Given the description of an element on the screen output the (x, y) to click on. 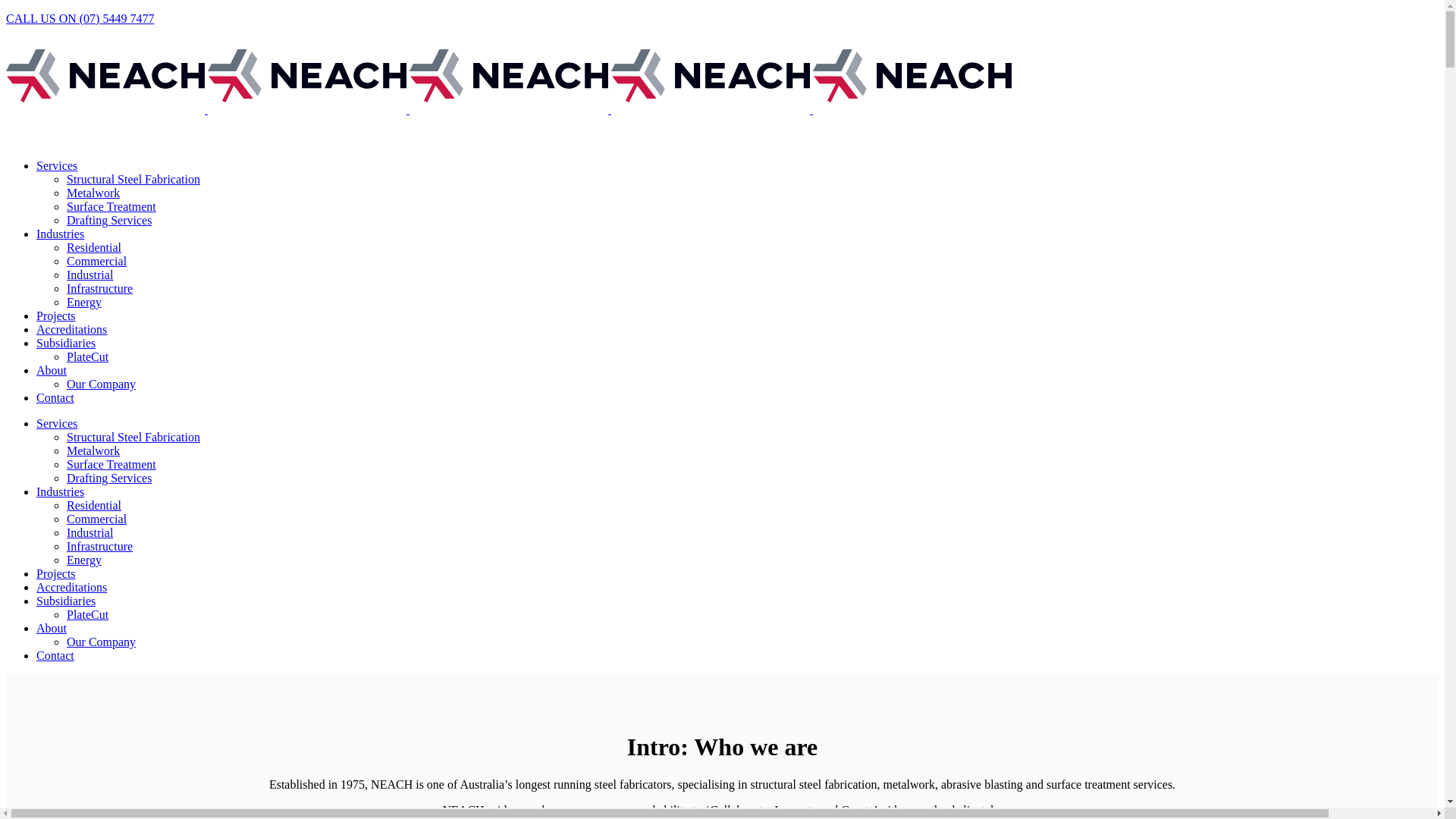
Structural Steel Fabrication Element type: text (133, 436)
Services Element type: text (56, 165)
Metalwork Element type: text (92, 450)
Infrastructure Element type: text (99, 288)
Our Company Element type: text (100, 383)
Our Company Element type: text (100, 641)
Industrial Element type: text (89, 274)
Industries Element type: text (60, 233)
Accreditations Element type: text (71, 329)
Projects Element type: text (55, 315)
Accreditations Element type: text (71, 586)
Services Element type: text (56, 423)
Subsidiaries Element type: text (65, 342)
Contact Element type: text (55, 655)
Residential Element type: text (93, 247)
Projects Element type: text (55, 573)
Industrial Element type: text (89, 532)
Metalwork Element type: text (92, 192)
About Element type: text (51, 627)
Surface Treatment Element type: text (111, 206)
Subsidiaries Element type: text (65, 600)
Structural Steel Fabrication Element type: text (133, 178)
Commercial Element type: text (96, 518)
Drafting Services Element type: text (108, 219)
PlateCut Element type: text (87, 614)
Contact Element type: text (55, 397)
Commercial Element type: text (96, 260)
Surface Treatment Element type: text (111, 464)
Energy Element type: text (83, 559)
PlateCut Element type: text (87, 356)
Drafting Services Element type: text (108, 477)
CALL US ON (07) 5449 7477 Element type: text (79, 18)
Infrastructure Element type: text (99, 545)
Industries Element type: text (60, 491)
Residential Element type: text (93, 504)
Energy Element type: text (83, 301)
About Element type: text (51, 370)
